Given the description of an element on the screen output the (x, y) to click on. 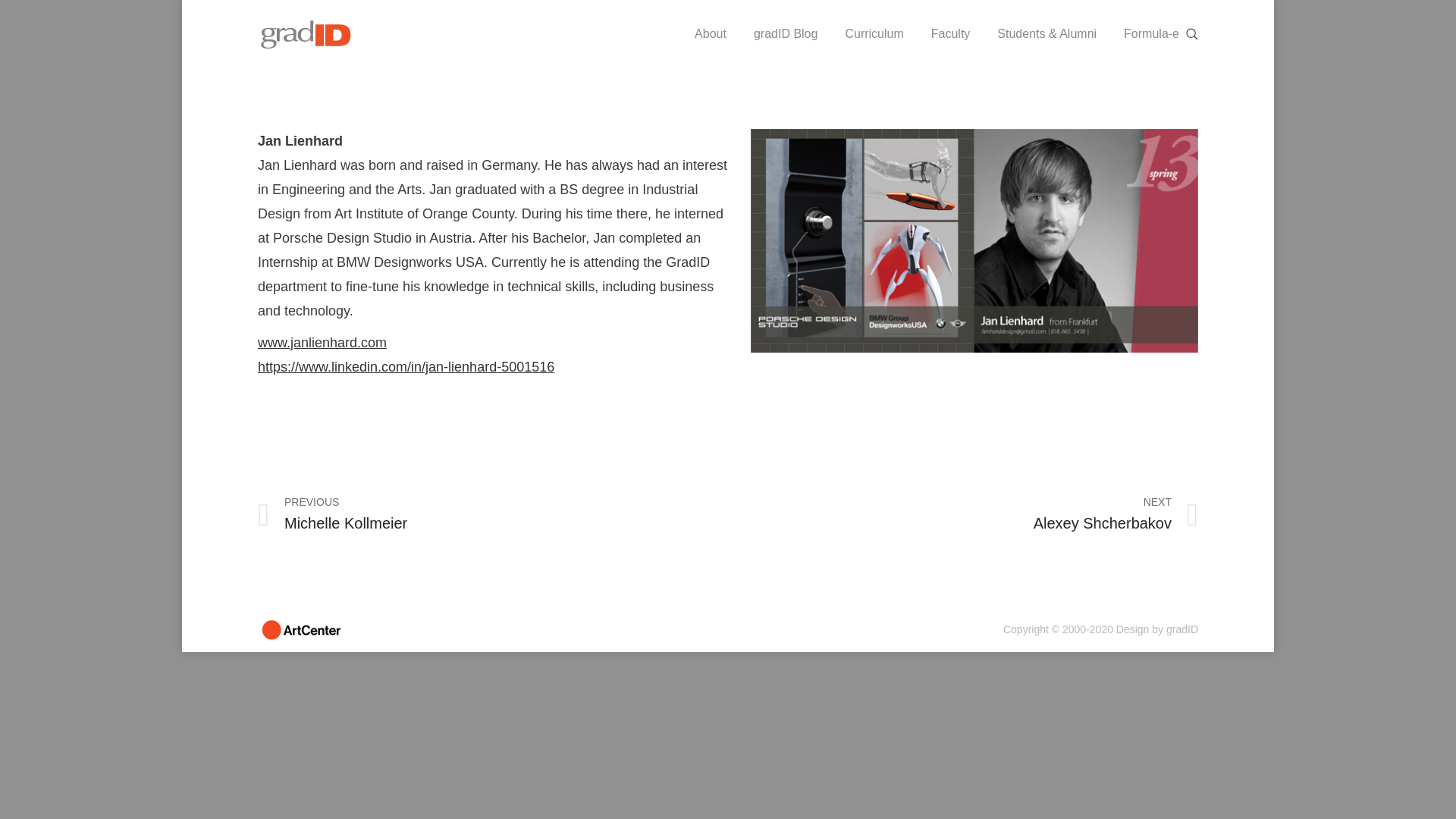
Faculty (951, 33)
gradID Blog (786, 33)
Formula-e (1151, 33)
Jan Lienhard (974, 240)
Go! (13, 7)
Curriculum (873, 33)
